Given the description of an element on the screen output the (x, y) to click on. 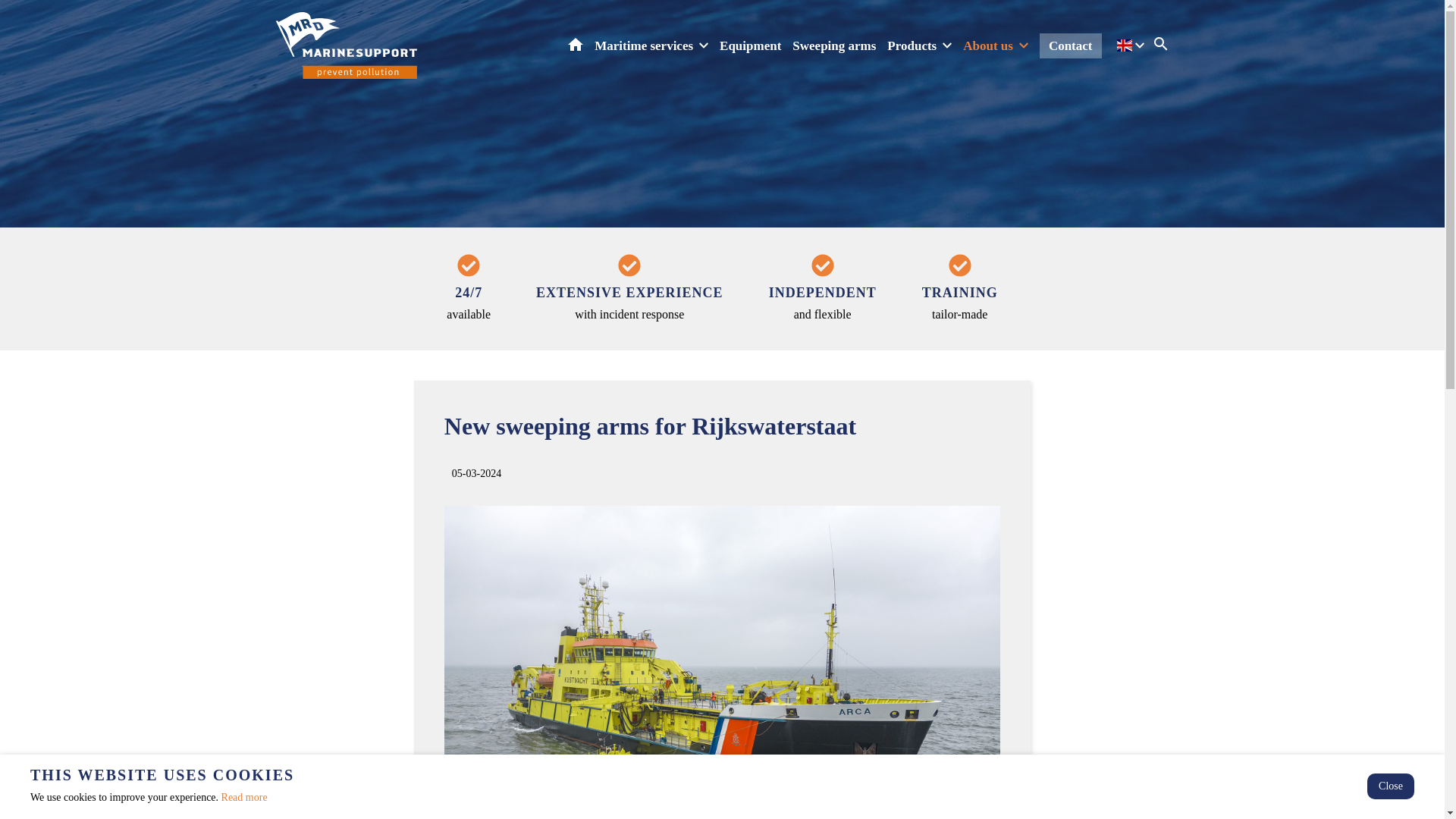
Equipment (749, 45)
About us (994, 45)
Maritime services (650, 45)
Products (919, 45)
Sweeping arms (834, 45)
